Given the description of an element on the screen output the (x, y) to click on. 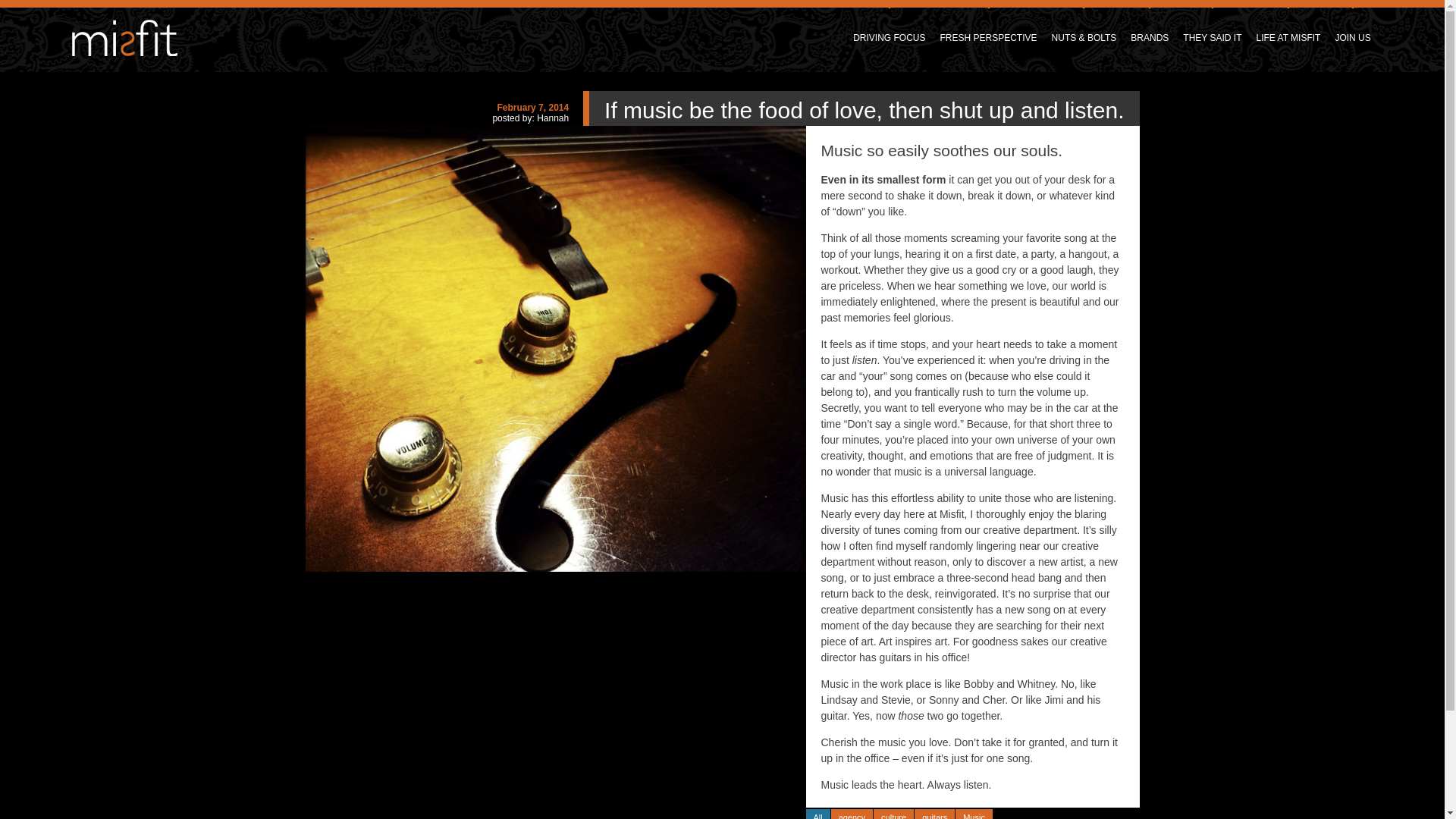
guitars (934, 814)
agency (851, 814)
FRESH PERSPECTIVE (989, 21)
LIFE AT MISFIT (1287, 21)
BRANDS (1149, 21)
DRIVING FOCUS (888, 21)
JOIN US (1352, 21)
culture (893, 814)
THEY SAID IT (1211, 21)
Music (973, 814)
